Given the description of an element on the screen output the (x, y) to click on. 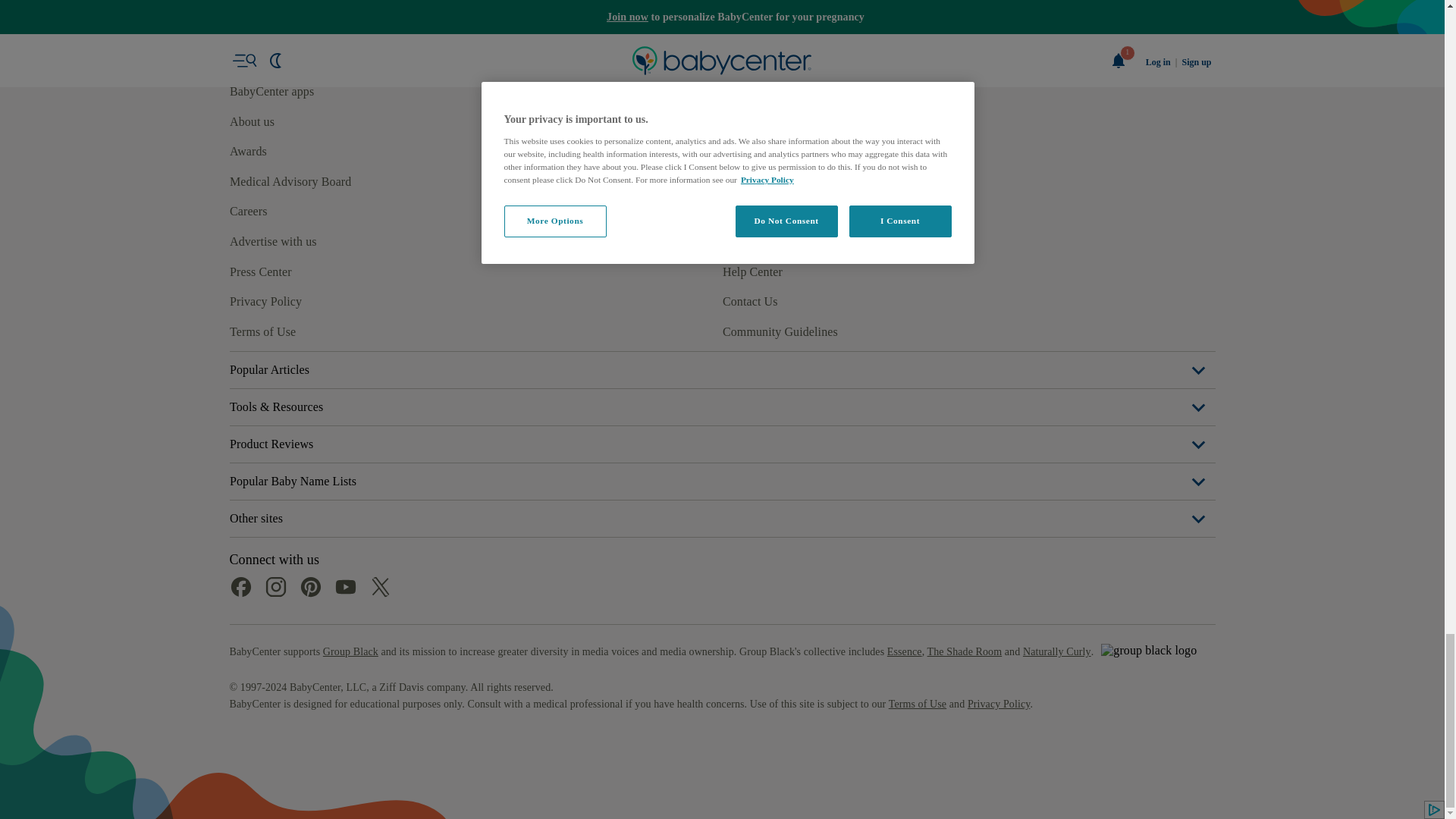
BabyCenter Pinterest board (309, 390)
BabyCenter Twitter feed (379, 390)
BabyCenter Facebook page (239, 390)
BabyCenter Instagram feed (274, 390)
BabyCenter YouTube channel (344, 390)
